Given the description of an element on the screen output the (x, y) to click on. 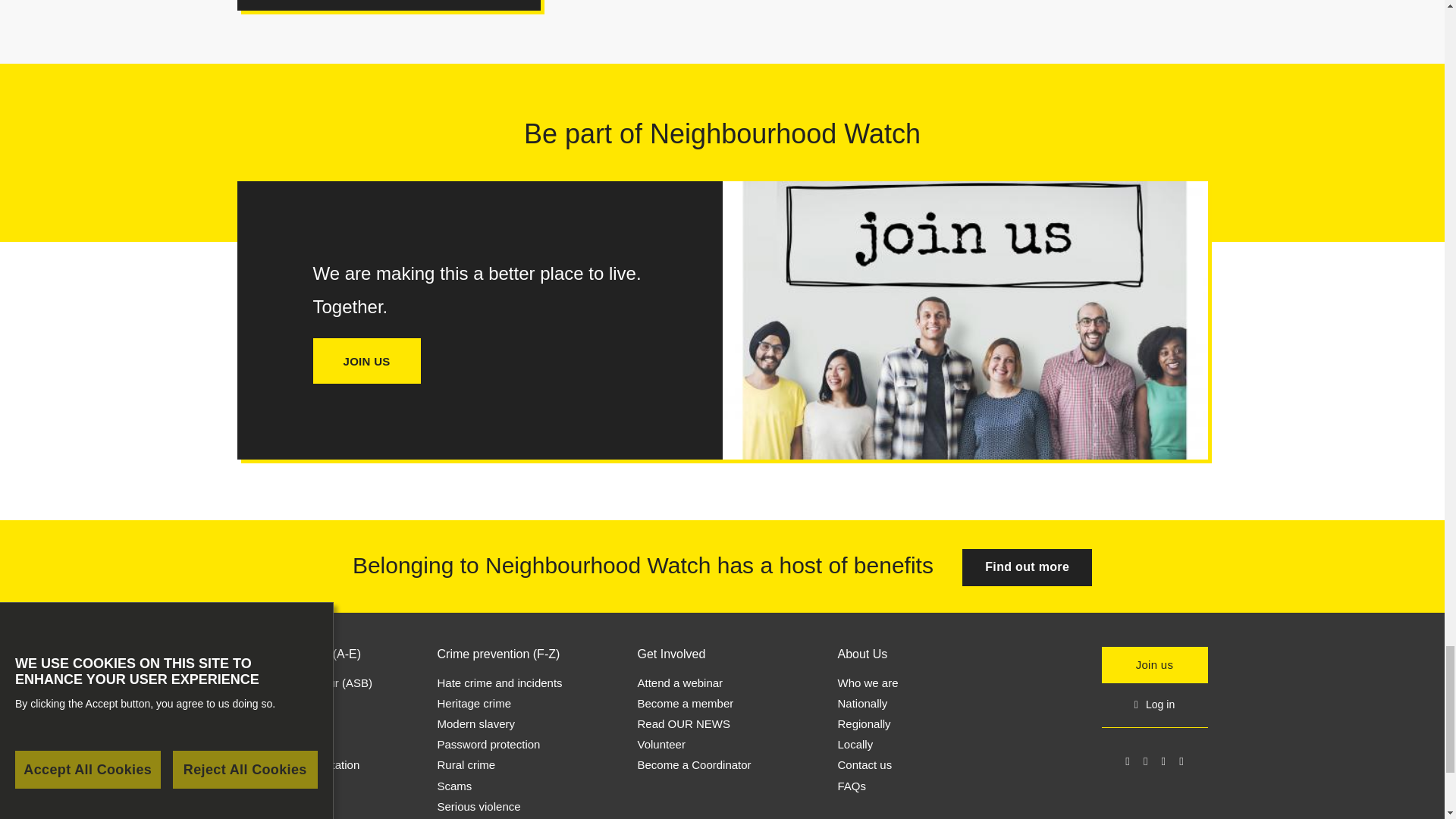
Become a Coordinator (694, 764)
Join us (1027, 567)
